Given the description of an element on the screen output the (x, y) to click on. 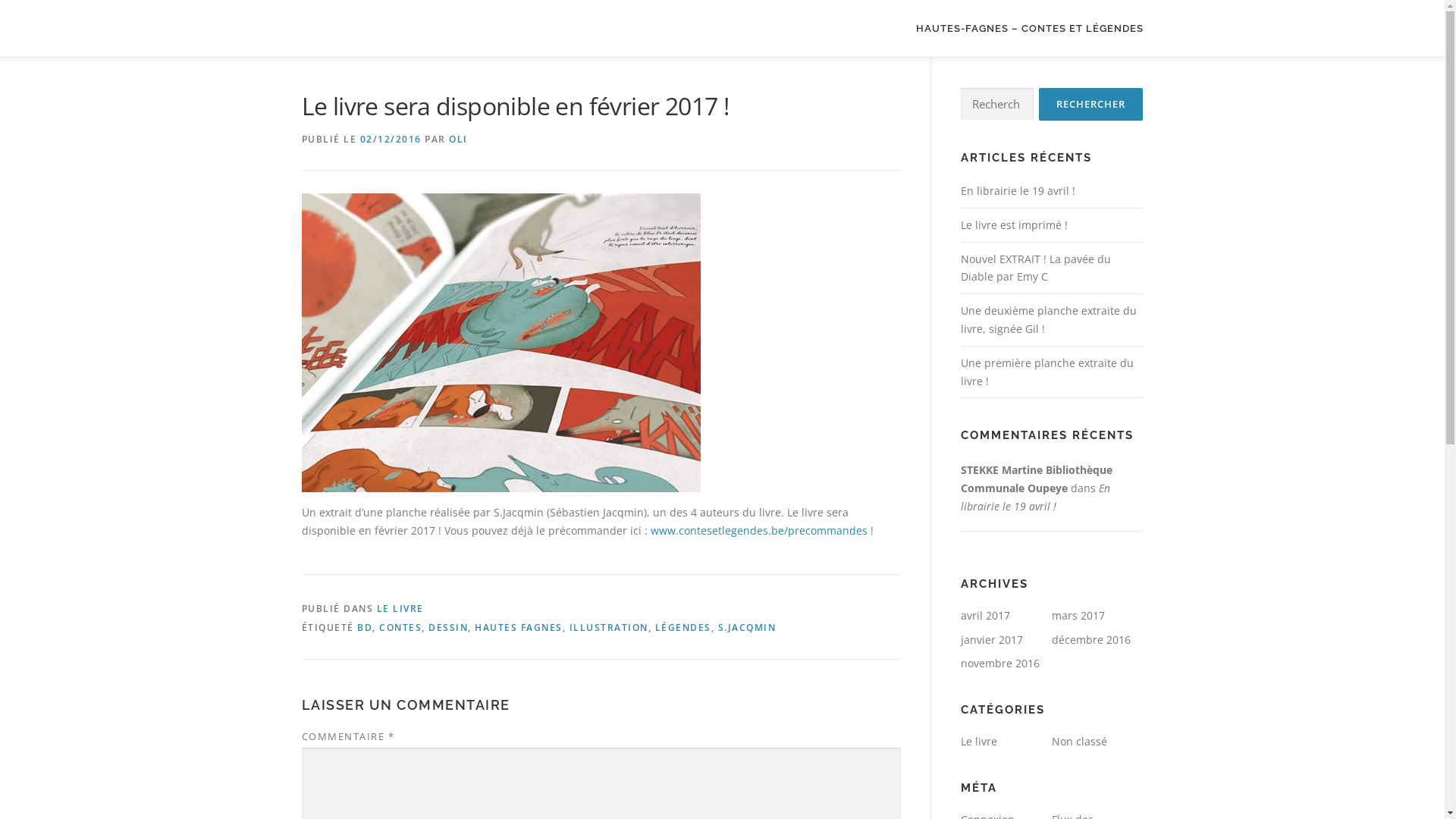
Rechercher Element type: text (1090, 103)
S.JACQMIN Element type: text (746, 627)
DESSIN Element type: text (447, 627)
avril 2017 Element type: text (984, 615)
OLI Element type: text (457, 138)
Le livre Element type: text (978, 741)
novembre 2016 Element type: text (999, 662)
ILLUSTRATION Element type: text (607, 627)
mars 2017 Element type: text (1077, 615)
HAUTES FAGNES Element type: text (518, 627)
janvier 2017 Element type: text (991, 639)
LE LIVRE Element type: text (399, 608)
En librairie le 19 avril ! Element type: text (1034, 496)
CONTES Element type: text (400, 627)
BD Element type: text (364, 627)
En librairie le 19 avril ! Element type: text (1017, 190)
02/12/2016 Element type: text (389, 138)
www.contesetlegendes.be/precommandes Element type: text (758, 530)
